Given the description of an element on the screen output the (x, y) to click on. 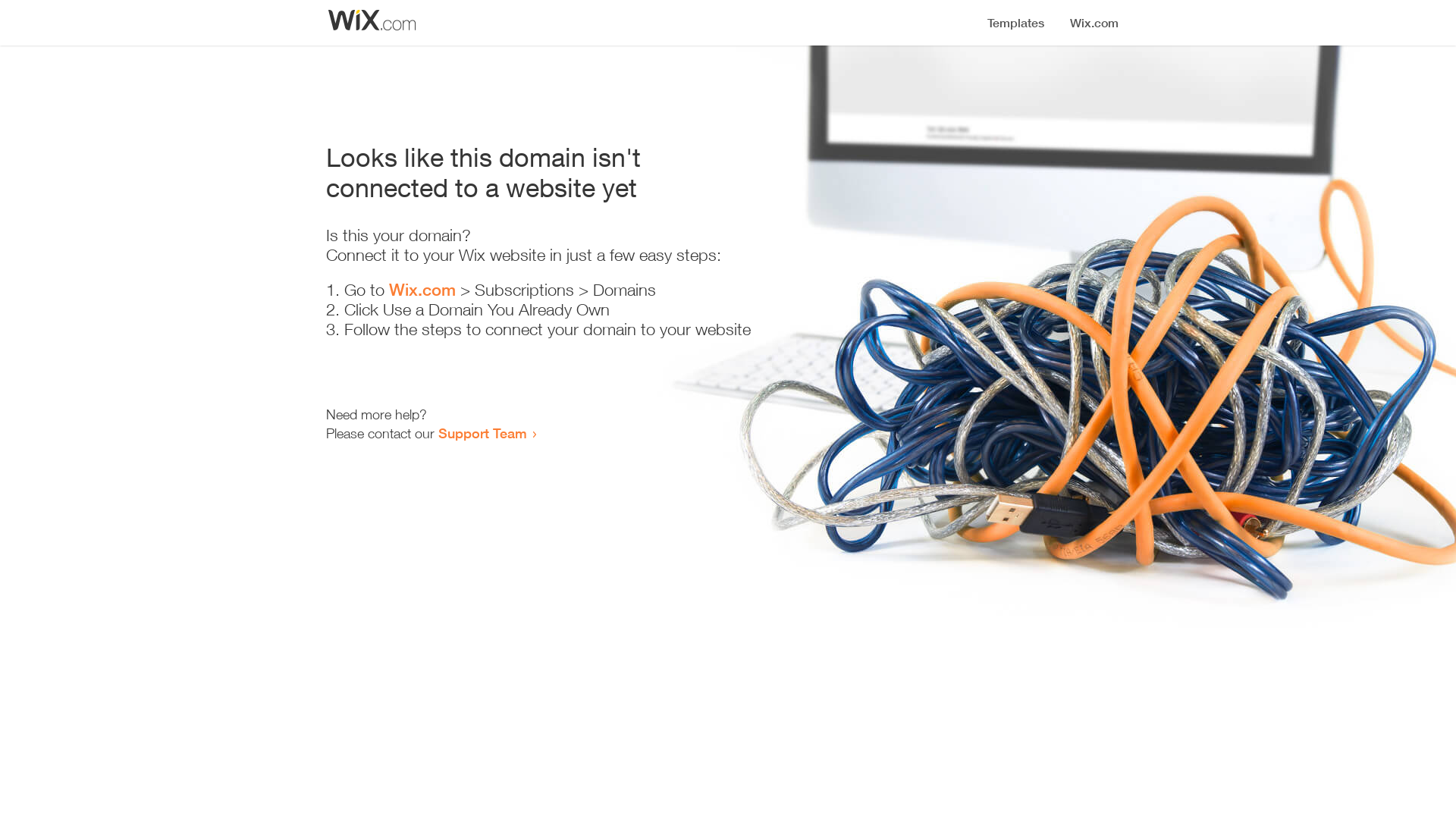
Support Team Element type: text (482, 432)
Wix.com Element type: text (422, 289)
